Given the description of an element on the screen output the (x, y) to click on. 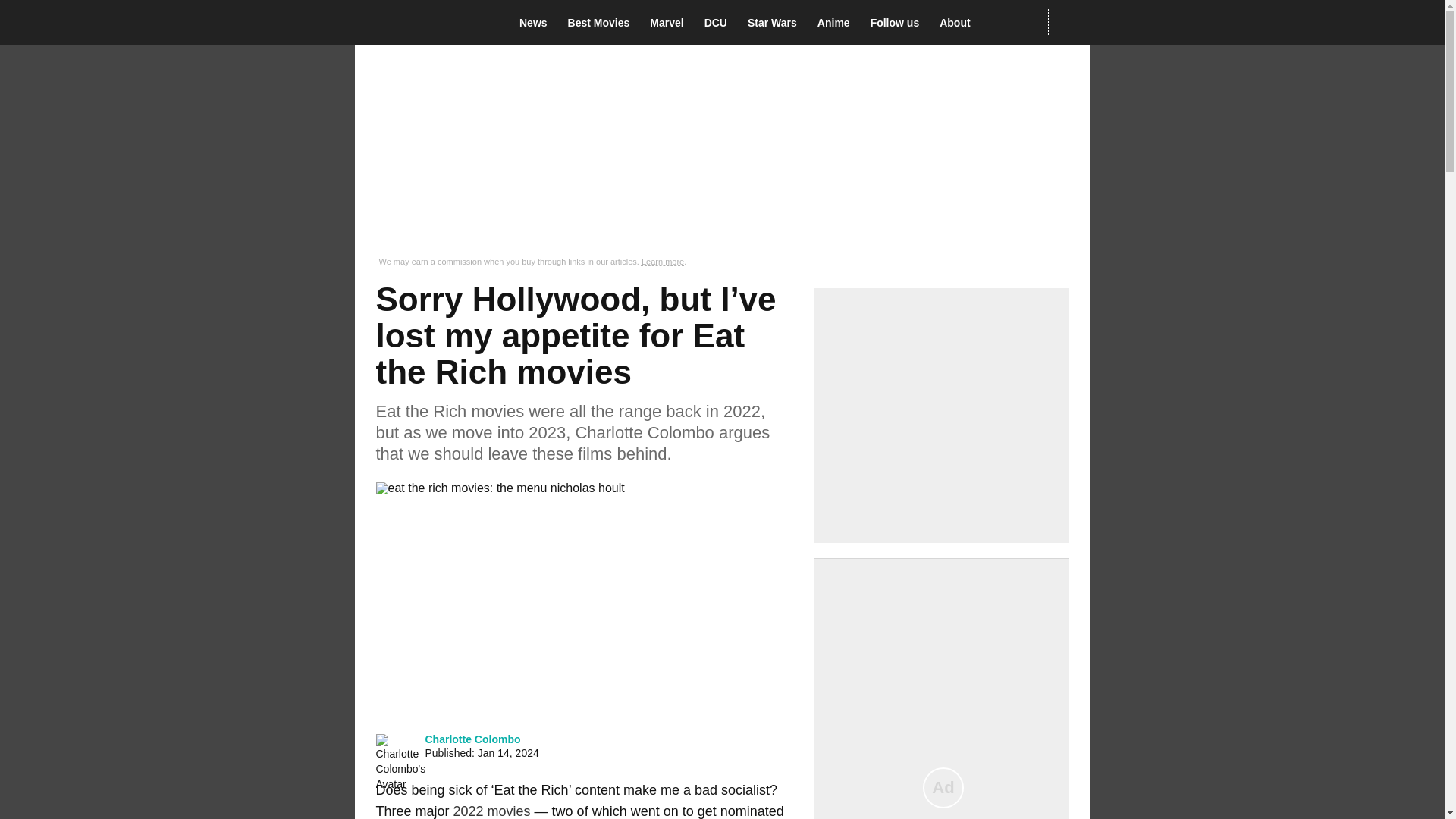
The Digital Fix (424, 22)
Charlotte Colombo (472, 739)
Anime (837, 22)
Best Movies (603, 22)
Learn more (663, 261)
Marvel (671, 22)
Anime News (837, 22)
2022 movies (491, 811)
Follow us (899, 22)
Network N Media (1068, 22)
